Given the description of an element on the screen output the (x, y) to click on. 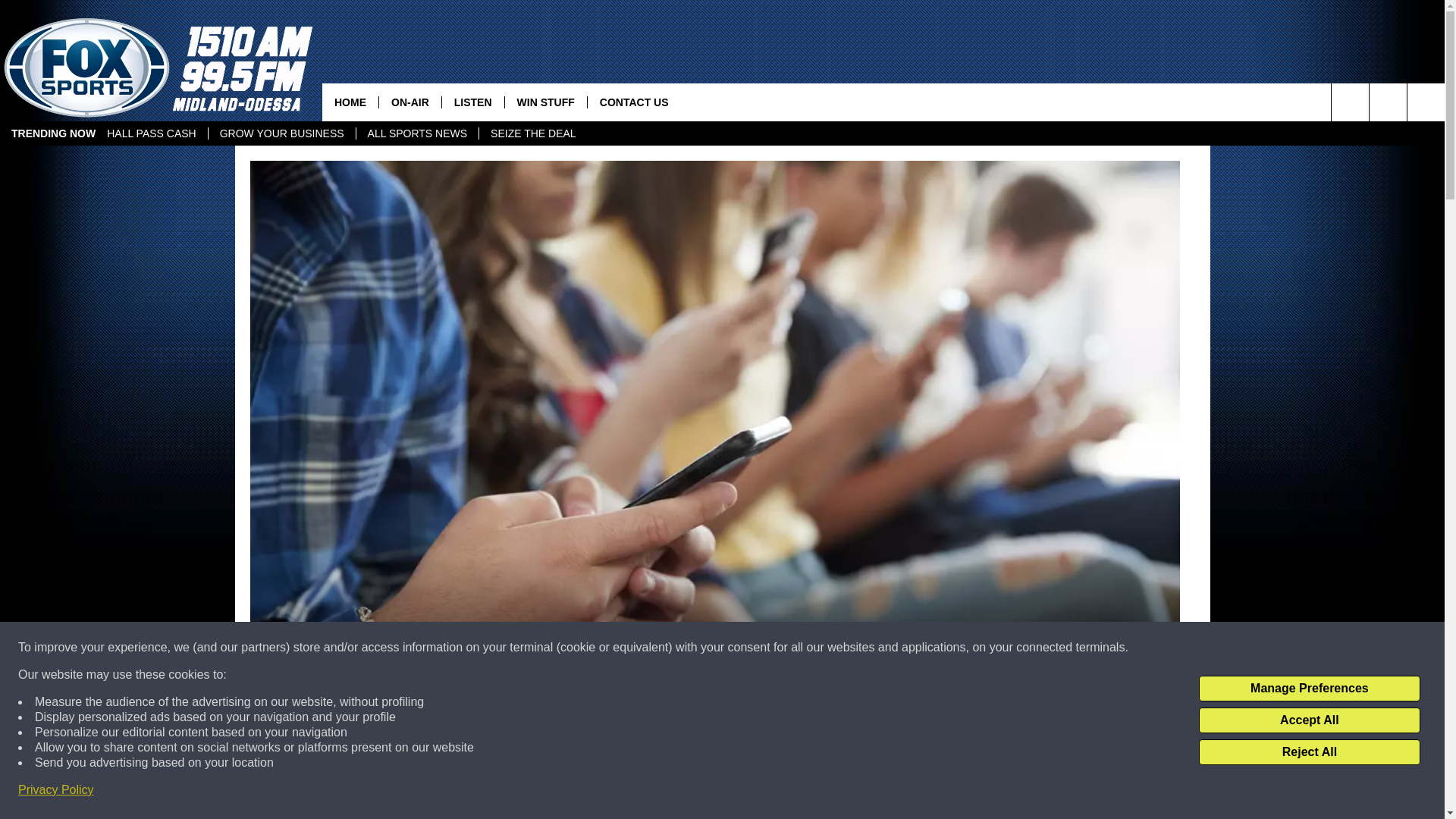
SEIZE THE DEAL (533, 133)
HALL PASS CASH (152, 133)
ON-AIR (409, 102)
HOME (349, 102)
Manage Preferences (1309, 688)
LISTEN (472, 102)
Share on Facebook (517, 791)
ALL SPORTS NEWS (417, 133)
CONTACT US (633, 102)
WIN STUFF (544, 102)
Leo (278, 705)
Share on Twitter (912, 791)
Reject All (1309, 751)
GROW YOUR BUSINESS (281, 133)
Accept All (1309, 720)
